Given the description of an element on the screen output the (x, y) to click on. 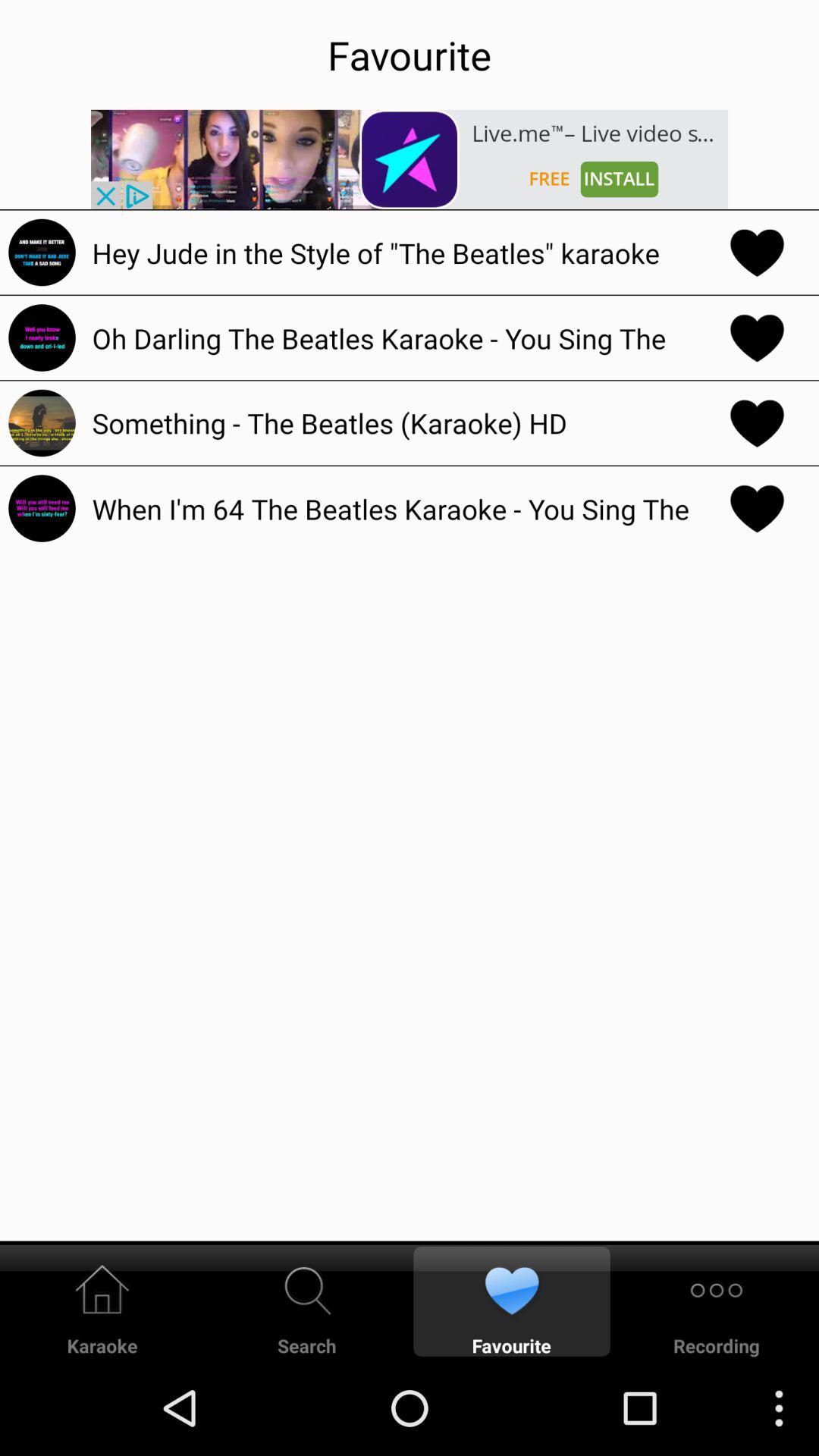
select song as favourite (756, 337)
